Given the description of an element on the screen output the (x, y) to click on. 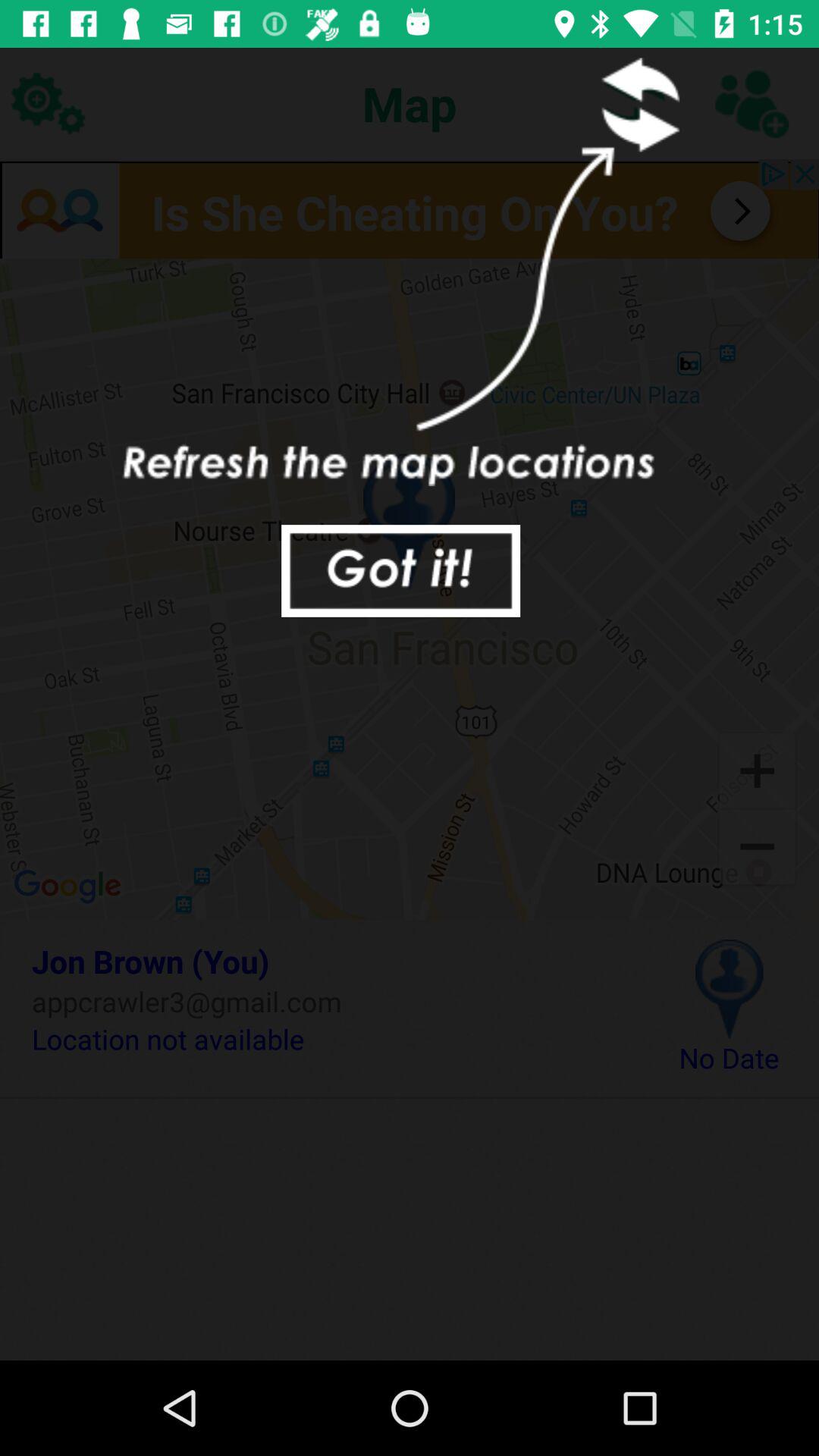
refresh map locations (751, 103)
